Given the description of an element on the screen output the (x, y) to click on. 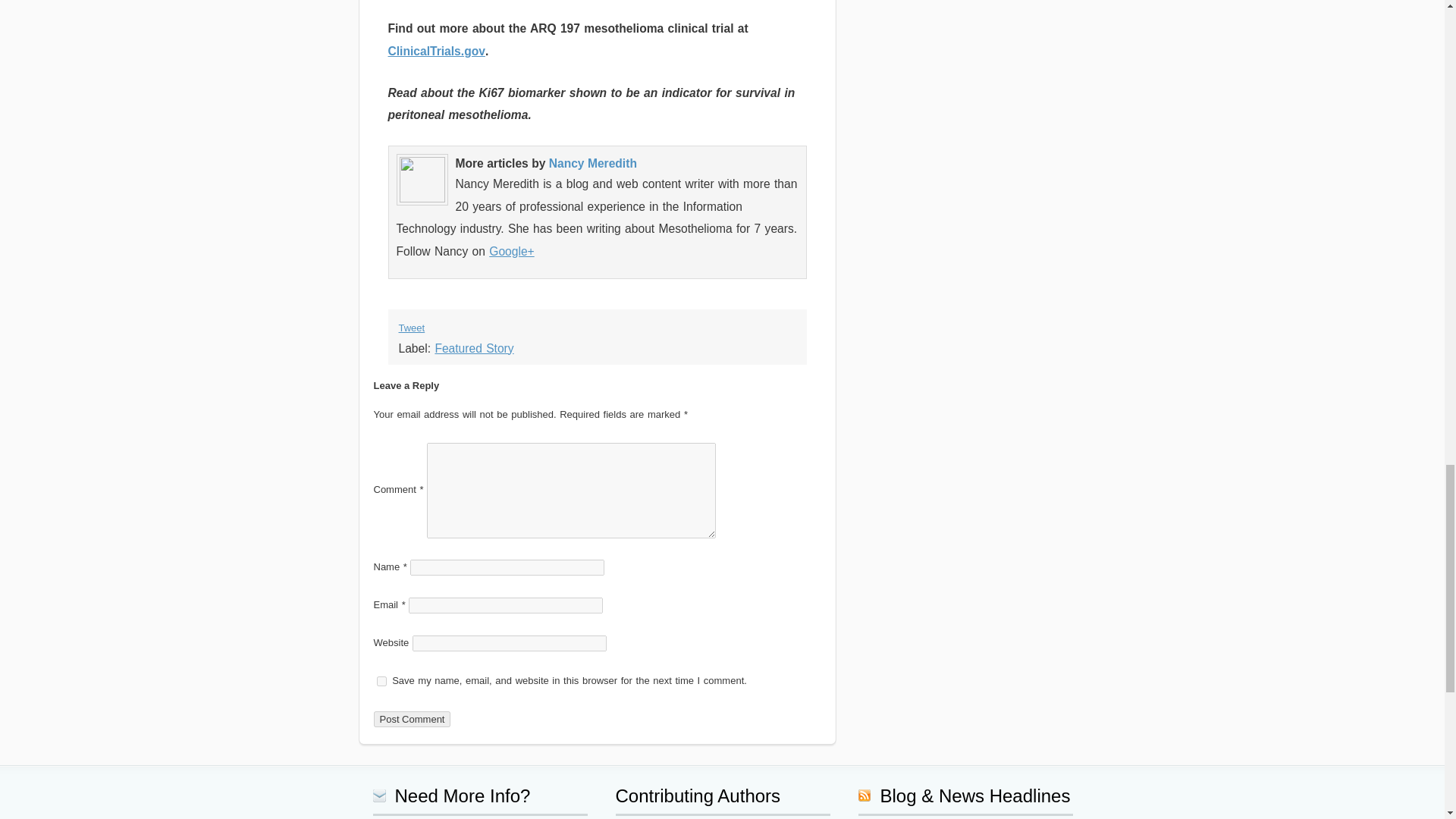
Post Comment (410, 719)
Tweet (411, 327)
Nancy Meredith (592, 163)
Featured Story (473, 348)
ClinicalTrials.gov (436, 51)
Post Comment (410, 719)
yes (380, 681)
